Given the description of an element on the screen output the (x, y) to click on. 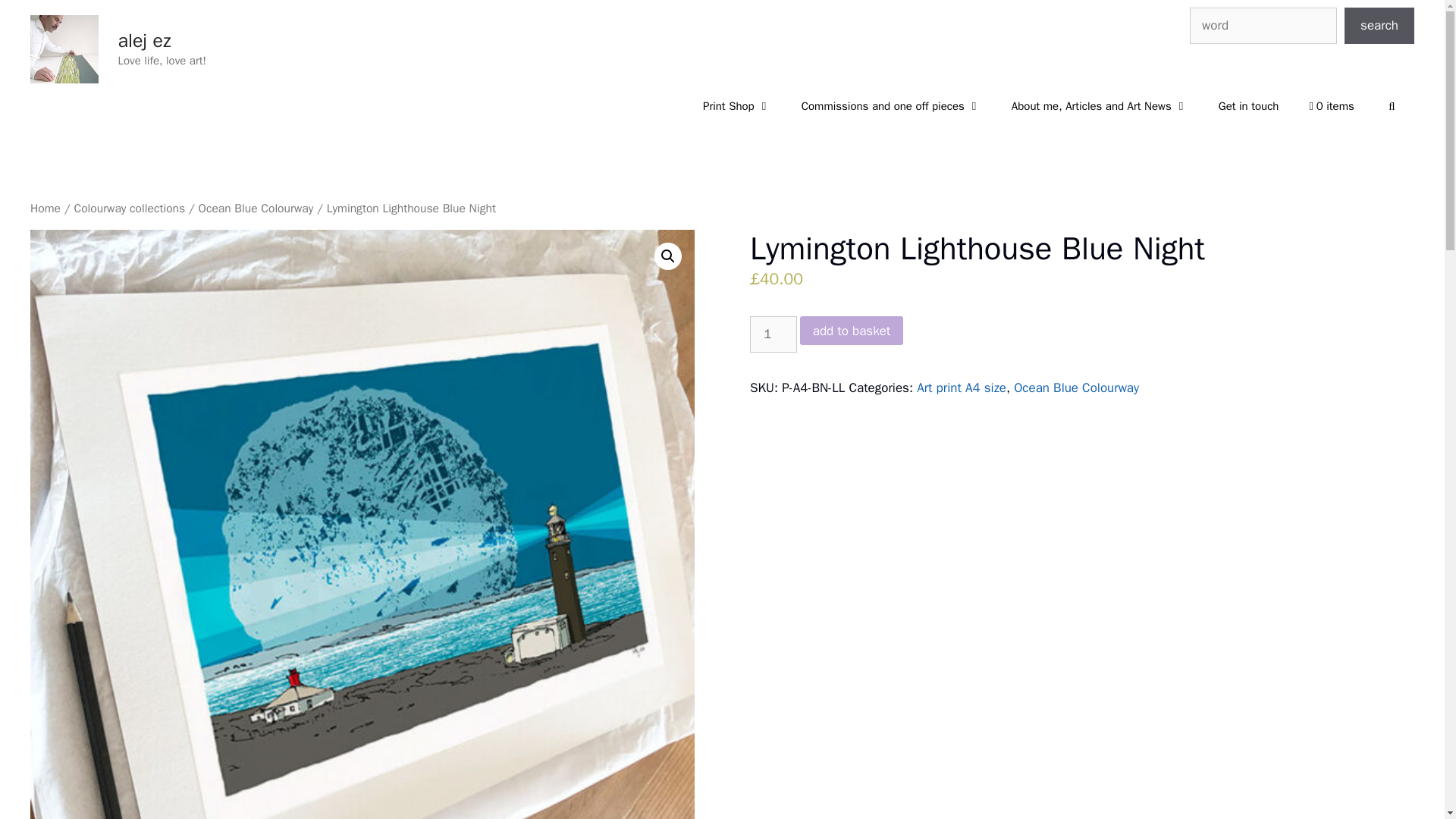
Start shopping (1331, 105)
1 (772, 334)
alej ez (144, 40)
Print Shop (736, 105)
search (1378, 25)
